Given the description of an element on the screen output the (x, y) to click on. 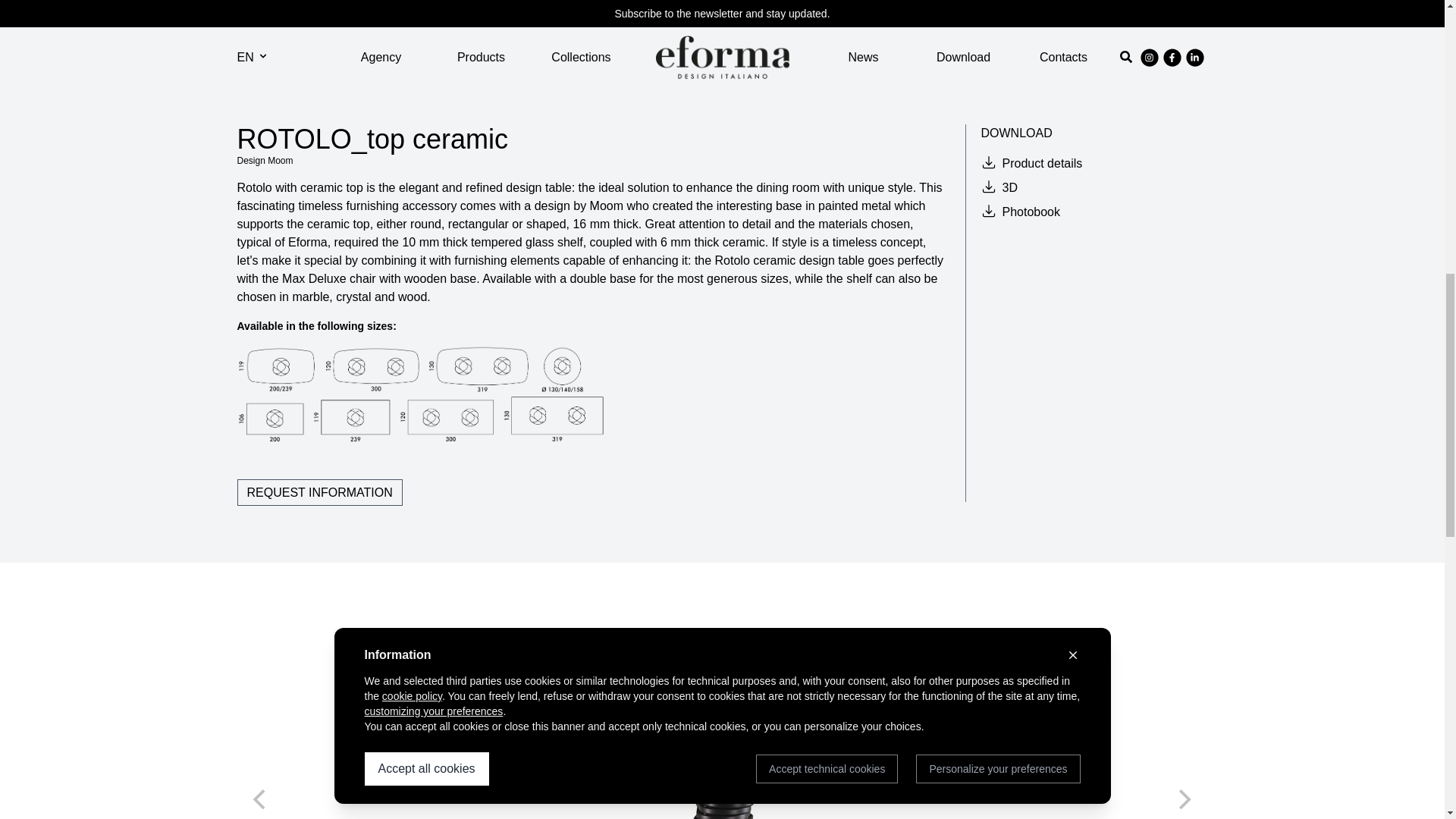
View slide 1 (691, 48)
View slide 2 (711, 48)
